Given the description of an element on the screen output the (x, y) to click on. 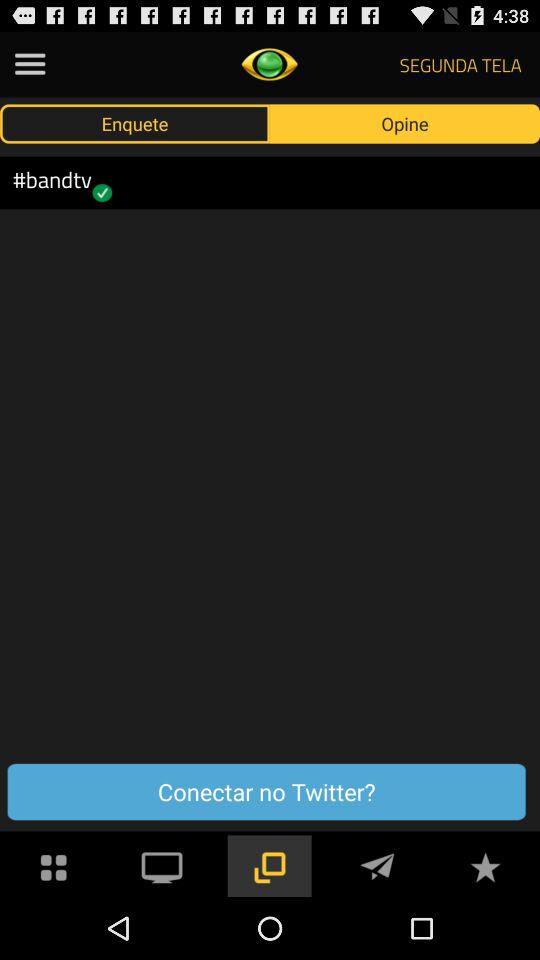
click the icon below the conectar no twitter? (377, 864)
